Given the description of an element on the screen output the (x, y) to click on. 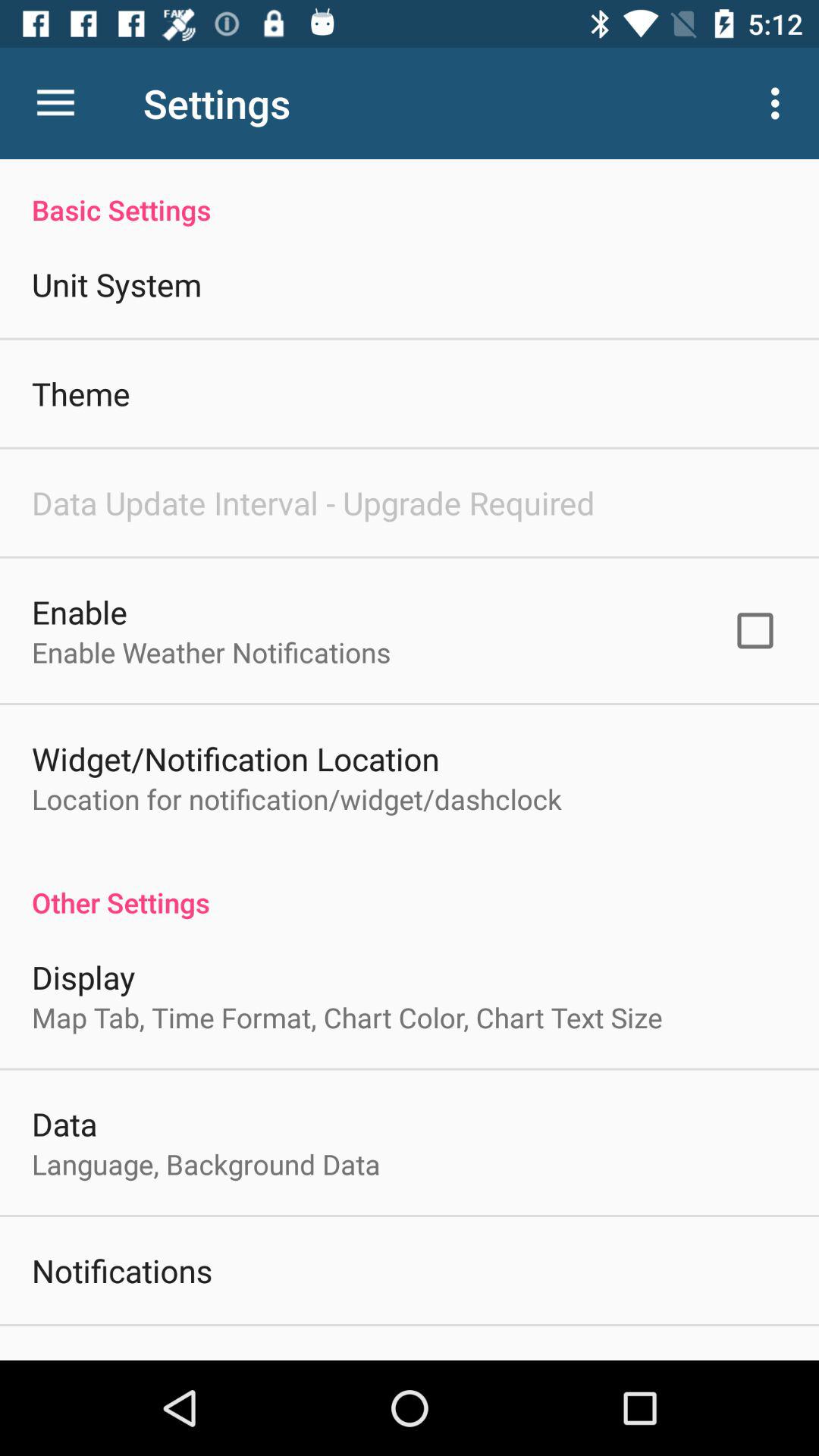
turn off item to the right of the enable weather notifications icon (755, 630)
